Given the description of an element on the screen output the (x, y) to click on. 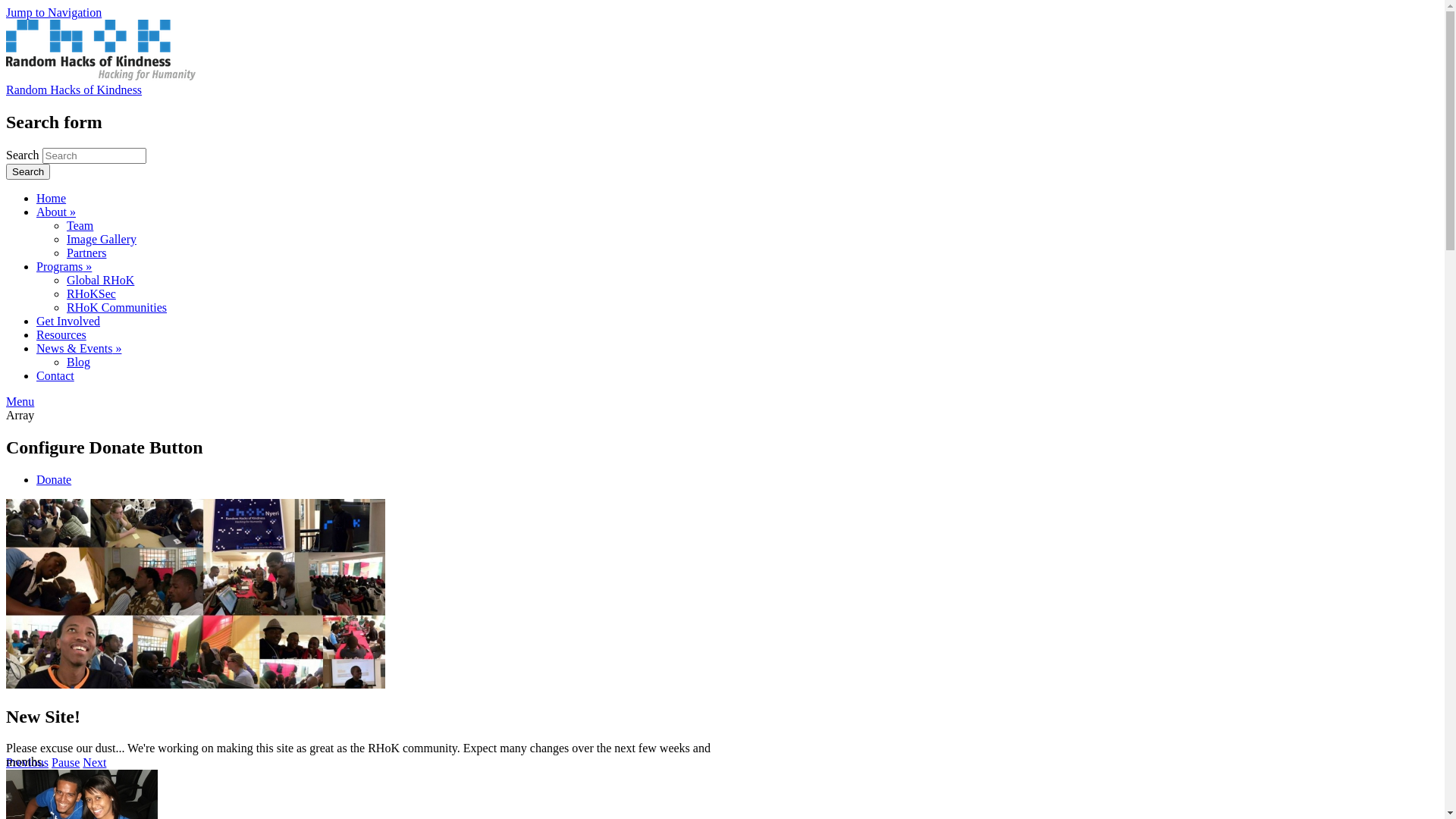
Menu Element type: text (20, 401)
Home Element type: hover (100, 75)
Partners Element type: text (86, 252)
Resources Element type: text (61, 334)
Pause Element type: text (65, 762)
Get Involved Element type: text (68, 320)
Image Gallery Element type: text (101, 238)
Search Element type: text (28, 171)
RHoK Communities Element type: text (116, 307)
Jump to Navigation Element type: text (53, 12)
Donate Element type: text (53, 479)
Enter the terms you wish to search for. Element type: hover (94, 155)
Team Element type: text (79, 225)
Global RHoK Element type: text (100, 279)
Blog Element type: text (78, 361)
Contact Element type: text (55, 375)
Home Element type: text (50, 197)
Next Element type: text (94, 762)
RHoKSec Element type: text (91, 293)
Previous Element type: text (27, 762)
Random Hacks of Kindness Element type: text (73, 89)
